Given the description of an element on the screen output the (x, y) to click on. 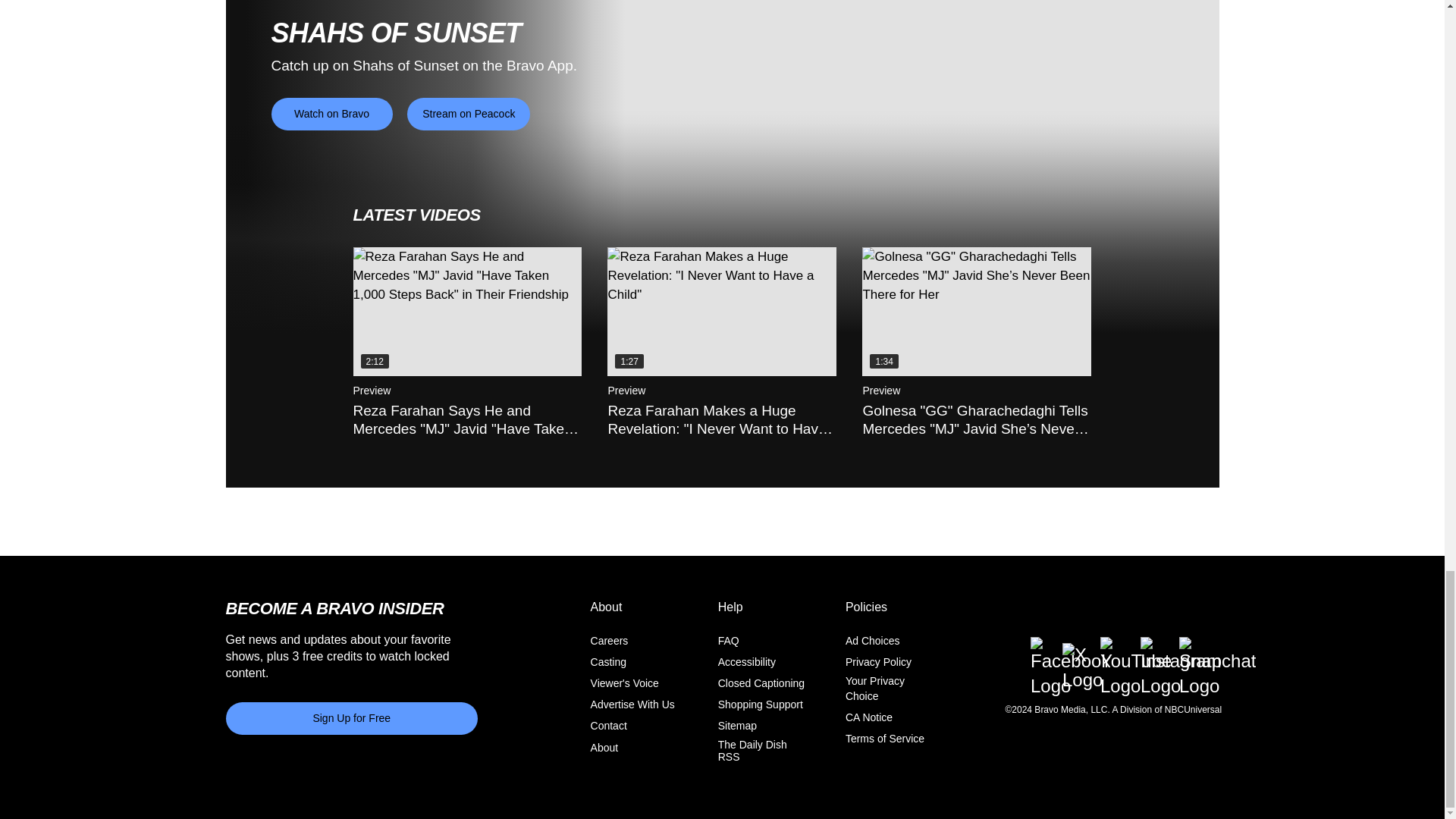
Advertise With Us (633, 704)
